Given the description of an element on the screen output the (x, y) to click on. 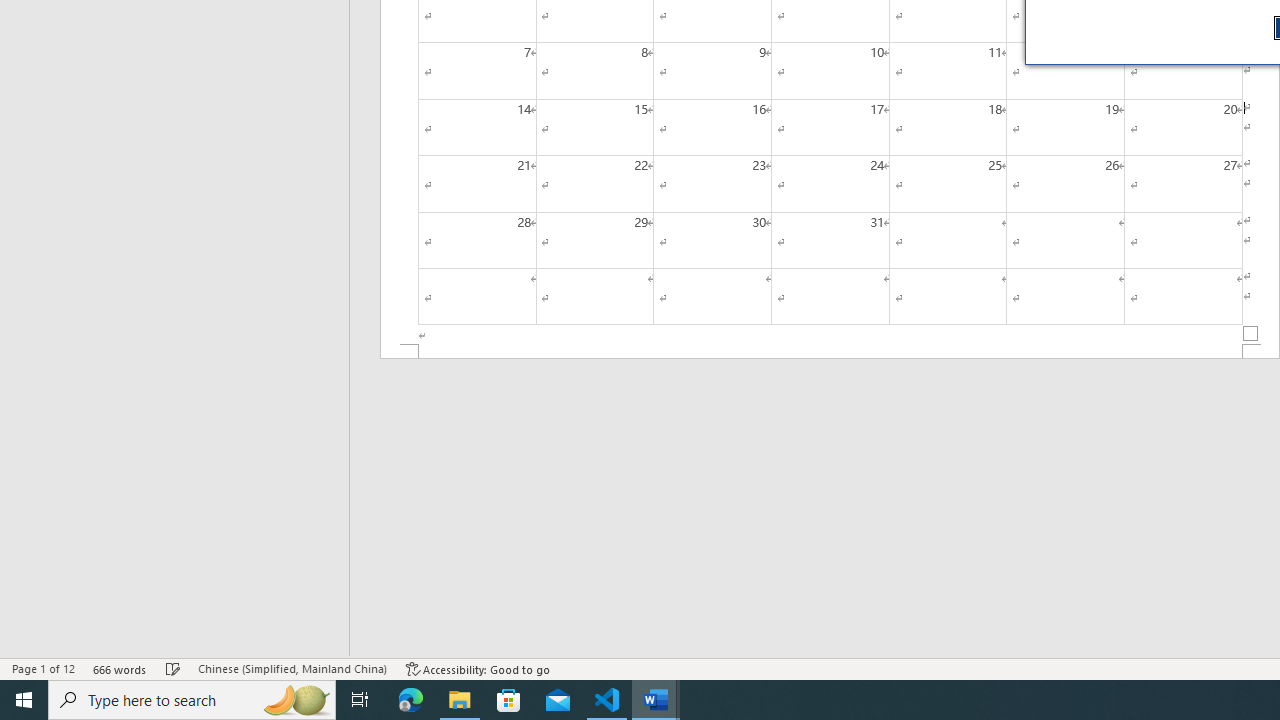
Accessibility Checker Accessibility: Good to go (478, 668)
File Explorer - 1 running window (460, 699)
Spelling and Grammar Check Checking (173, 668)
Page Number Page 1 of 12 (43, 668)
Start (24, 699)
Word - 2 running windows (656, 699)
Language Chinese (Simplified, Mainland China) (292, 668)
Task View (359, 699)
Microsoft Store (509, 699)
Visual Studio Code - 1 running window (607, 699)
Search highlights icon opens search home window (295, 699)
Microsoft Edge (411, 699)
Word Count 666 words (119, 668)
Footer -Section 1- (830, 351)
